Given the description of an element on the screen output the (x, y) to click on. 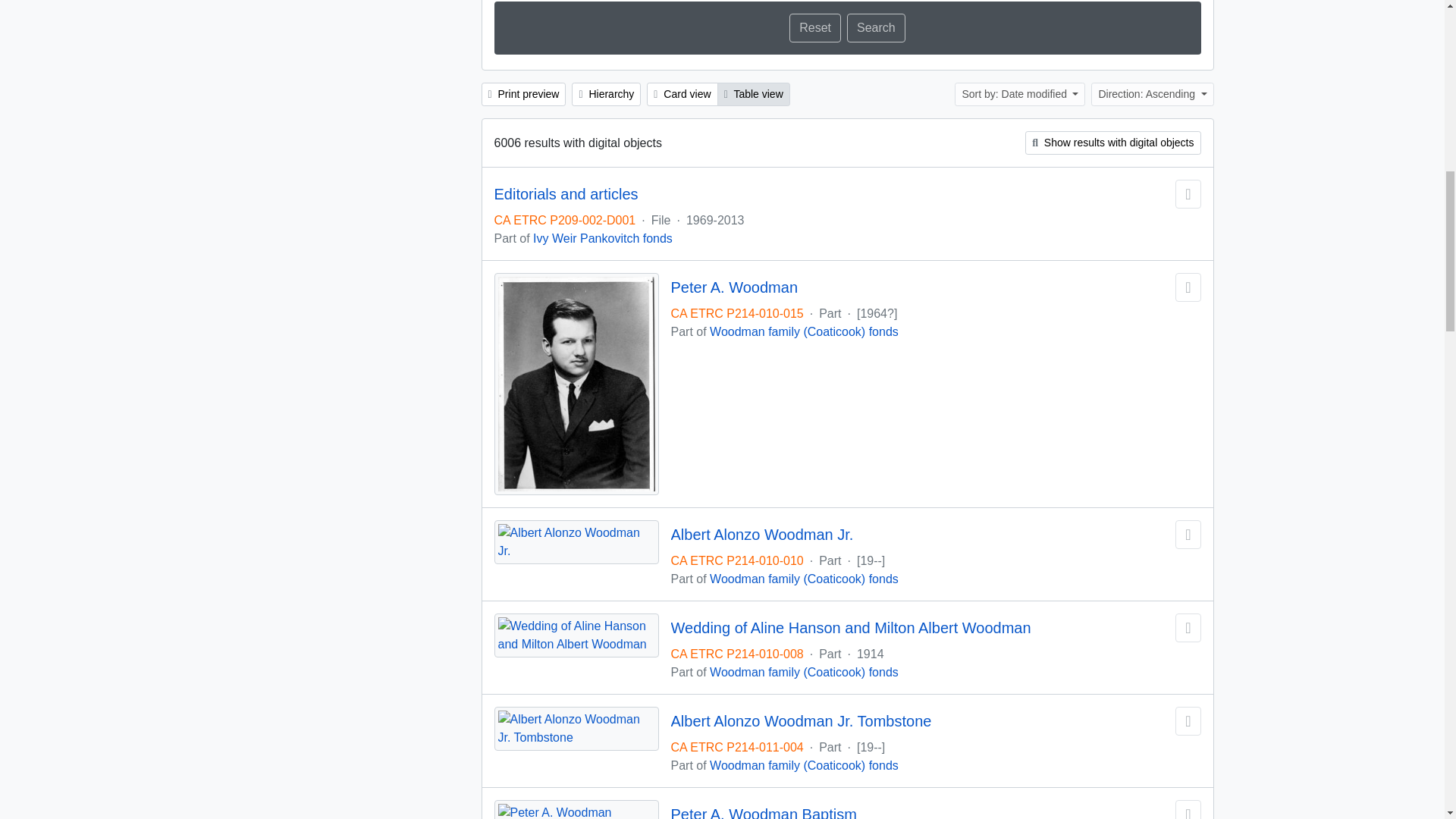
Reset (815, 27)
Search (876, 27)
